Given the description of an element on the screen output the (x, y) to click on. 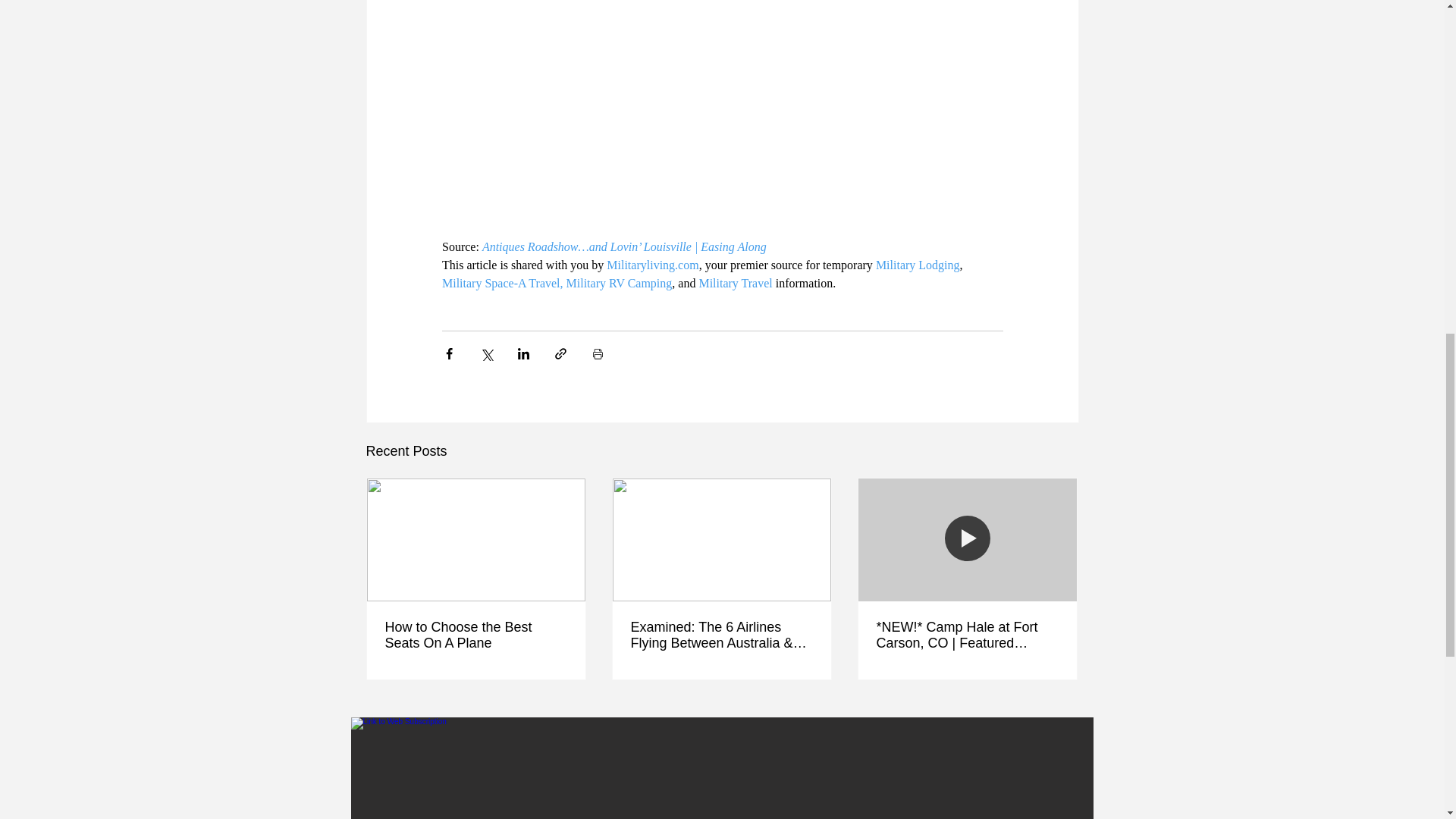
Military Space-A Travel, (501, 282)
Military Lodging (917, 264)
How to Choose the Best Seats On A Plane (476, 635)
Militaryliving.com (652, 264)
Military Travel (734, 282)
Military RV Camping (618, 282)
